Given the description of an element on the screen output the (x, y) to click on. 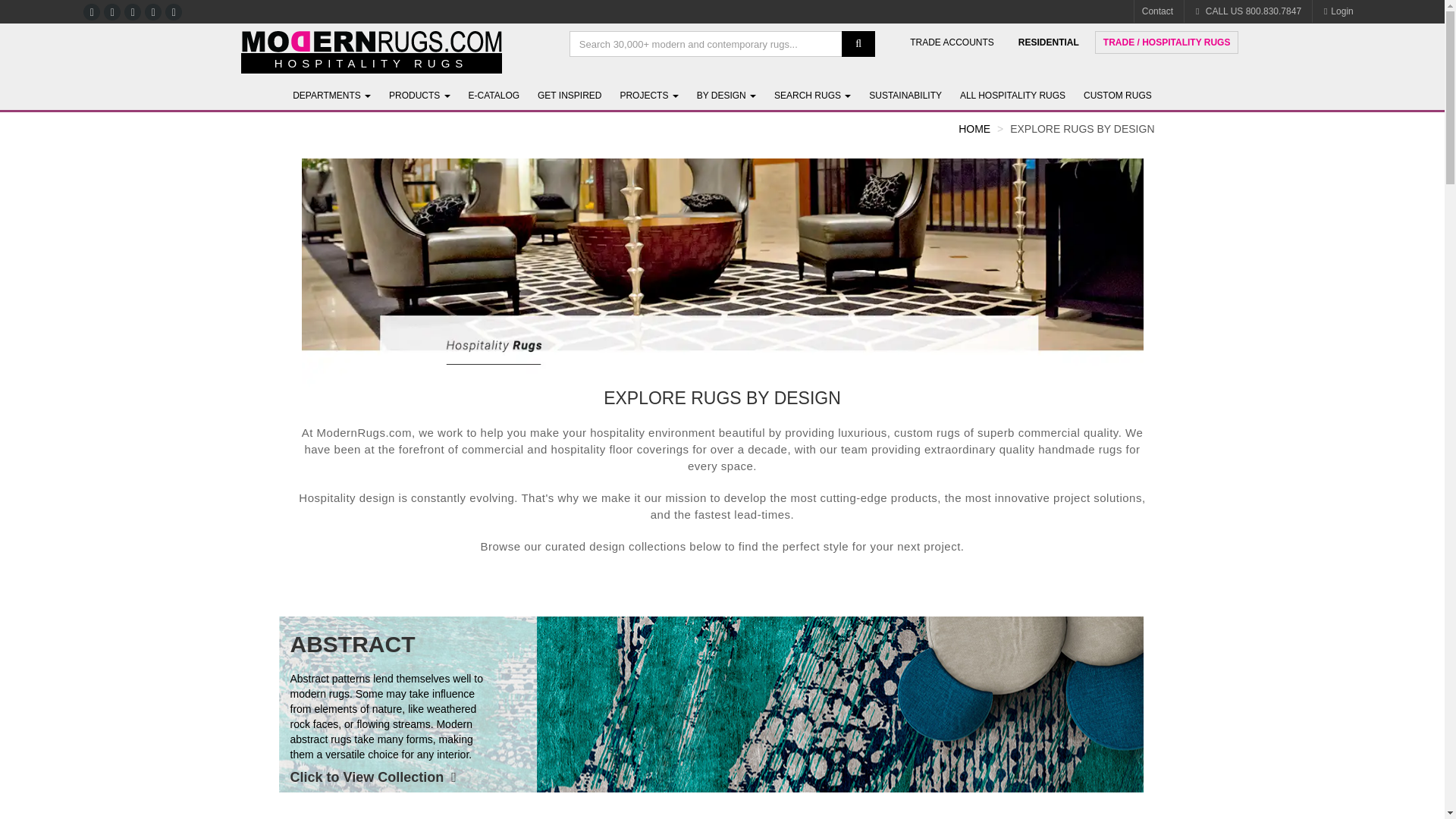
HOSPITALITY RUGS (371, 63)
Contact (1157, 11)
DEPARTMENTS (331, 94)
Login (1337, 11)
RESIDENTIAL (1048, 42)
TRADE ACCOUNTS (952, 42)
CALL US 800.830.7847 (1246, 11)
